Given the description of an element on the screen output the (x, y) to click on. 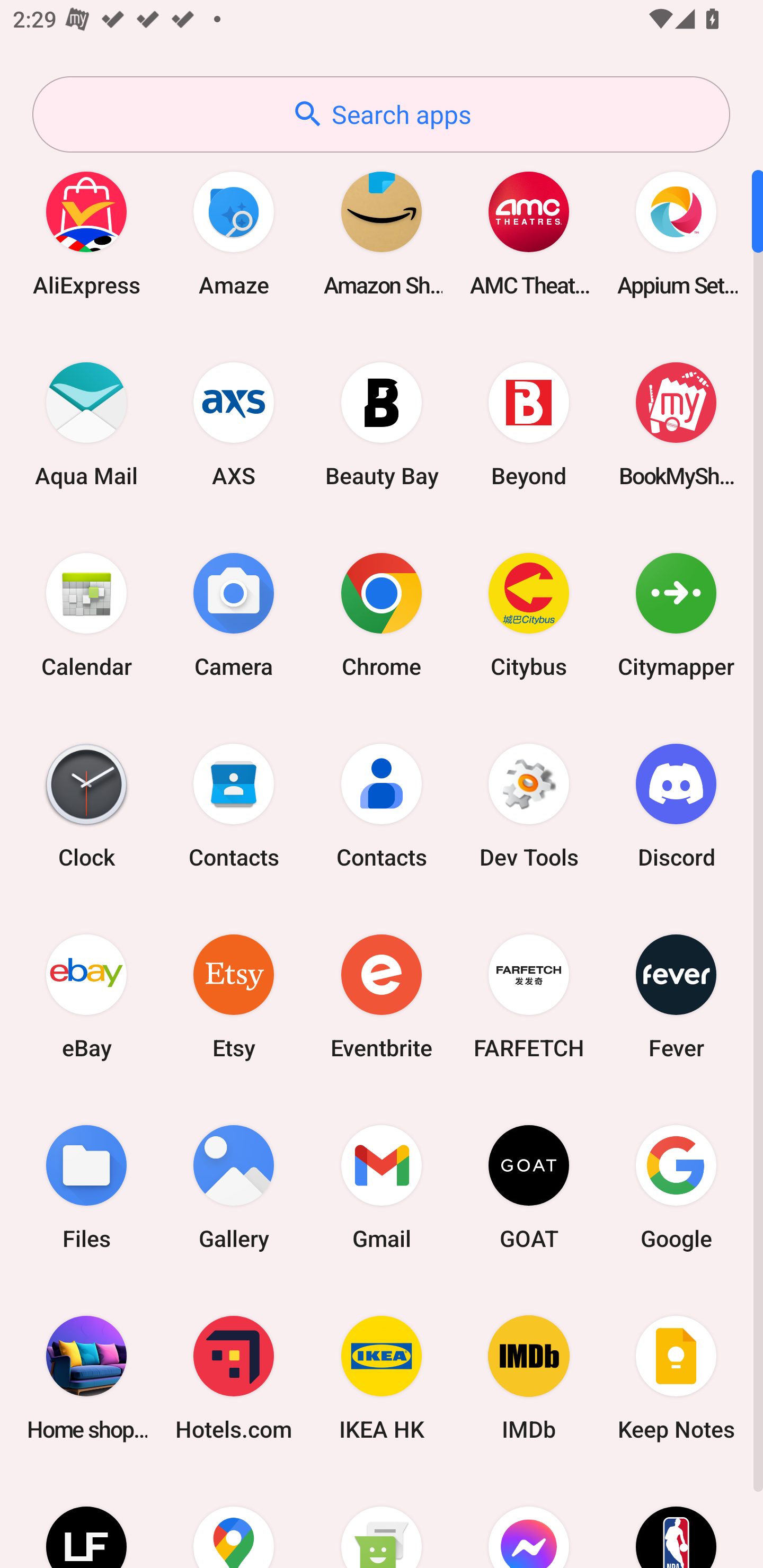
Citymapper (676, 614)
